Given the description of an element on the screen output the (x, y) to click on. 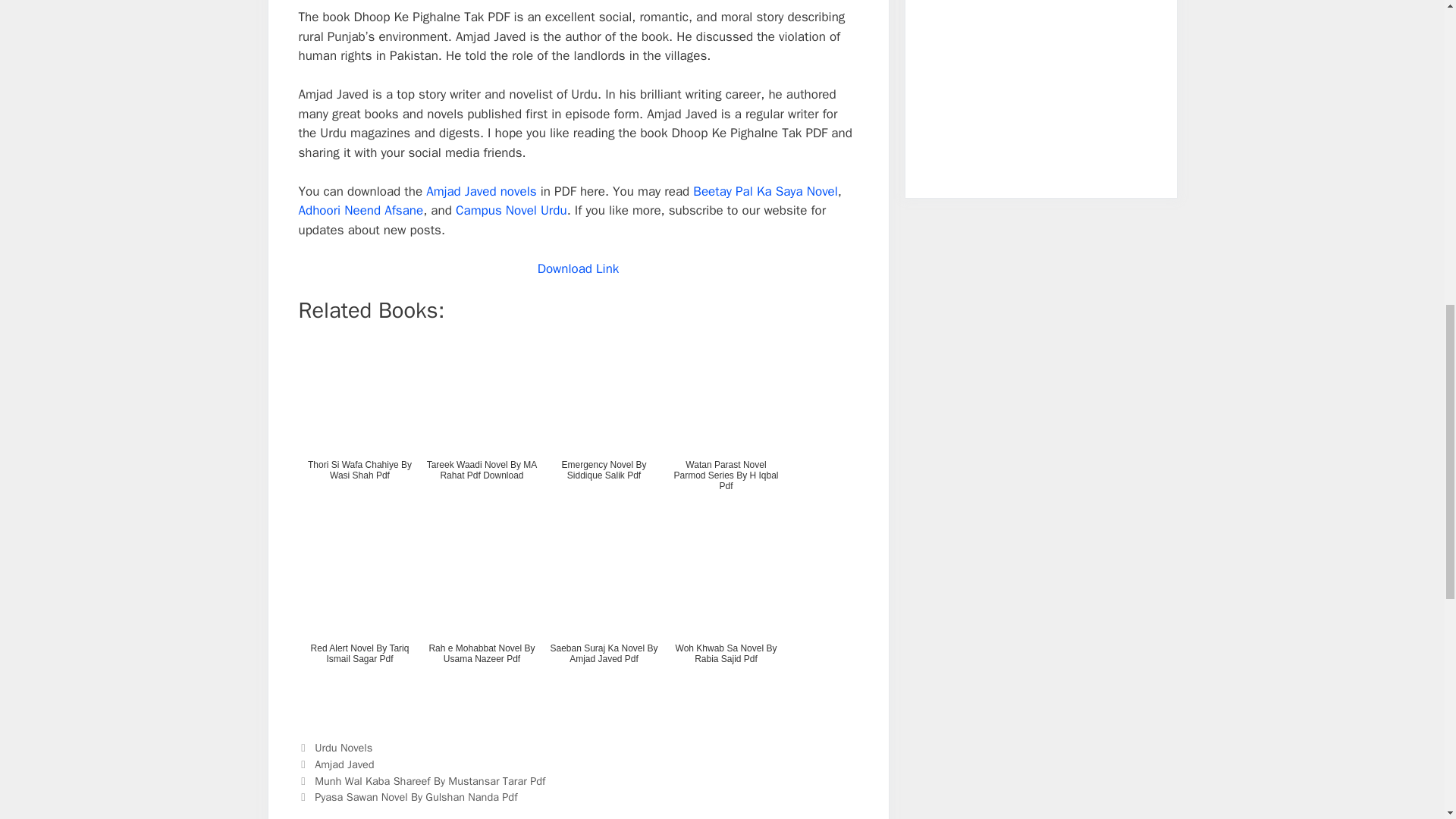
Beetay Pal Ka Saya Novel (765, 191)
Amjad Javed (344, 764)
Adhoori Neend Afsane (360, 210)
Bachon Ke Islami Naam With Horoscope Urdu Pdf (987, 29)
Download Link (578, 268)
Scroll back to top (1406, 720)
Pyasa Sawan Novel By Gulshan Nanda Pdf (415, 796)
Gharnata Ka Chopan Novel By Aslam Rahi MA Pdf (987, 112)
Peer e Kamil Novel Urdu By Umera Ahmad Pdf (1093, 112)
Amjad Javed novels (480, 191)
